Given the description of an element on the screen output the (x, y) to click on. 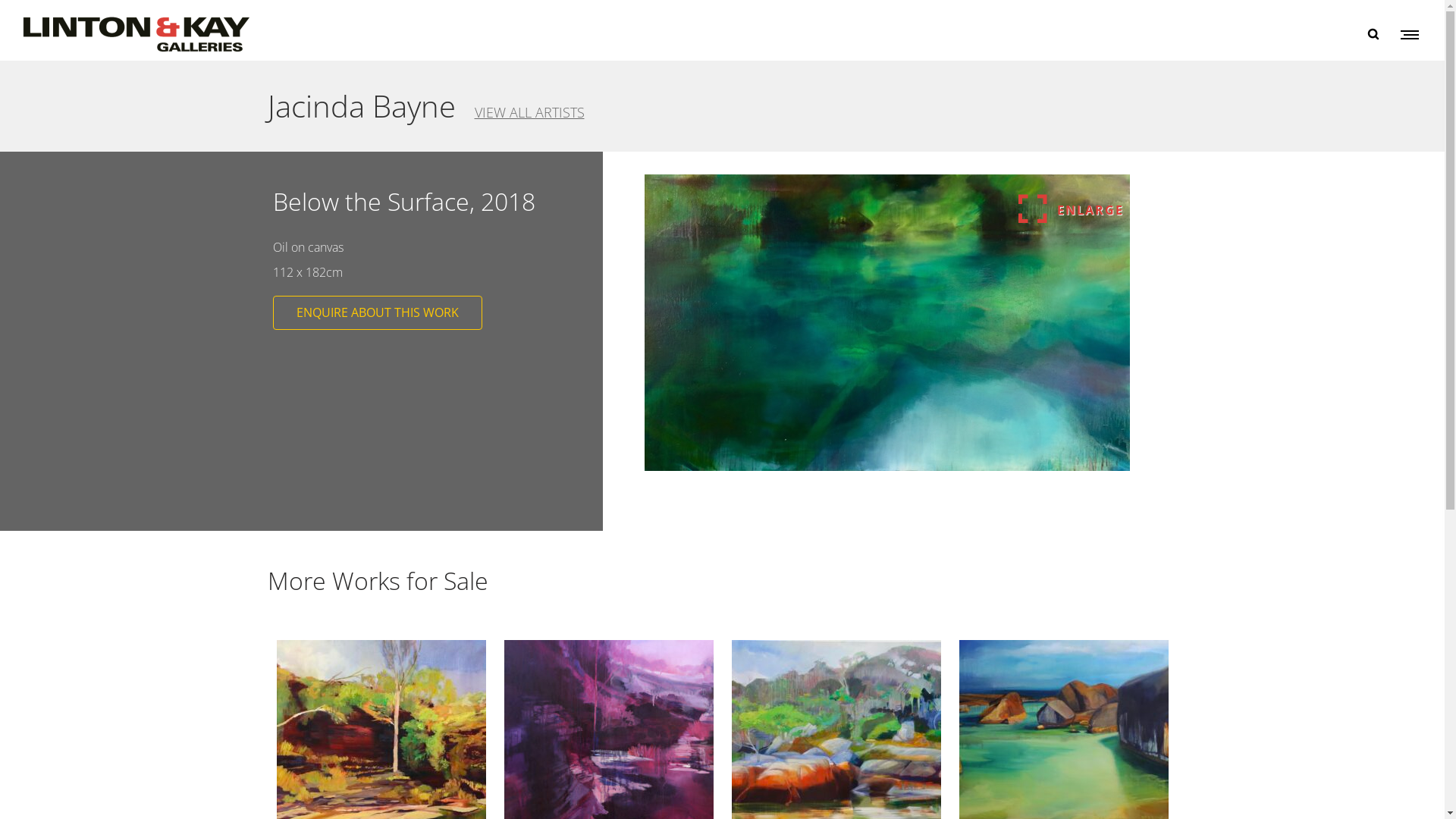
Jacinda Bayne Element type: text (360, 105)
menu Element type: hover (1406, 33)
ENLARGE Element type: text (886, 325)
VIEW ALL ARTISTS Element type: text (529, 111)
Site logo Element type: hover (136, 34)
ENQUIRE ABOUT THIS WORK Element type: text (377, 312)
